Given the description of an element on the screen output the (x, y) to click on. 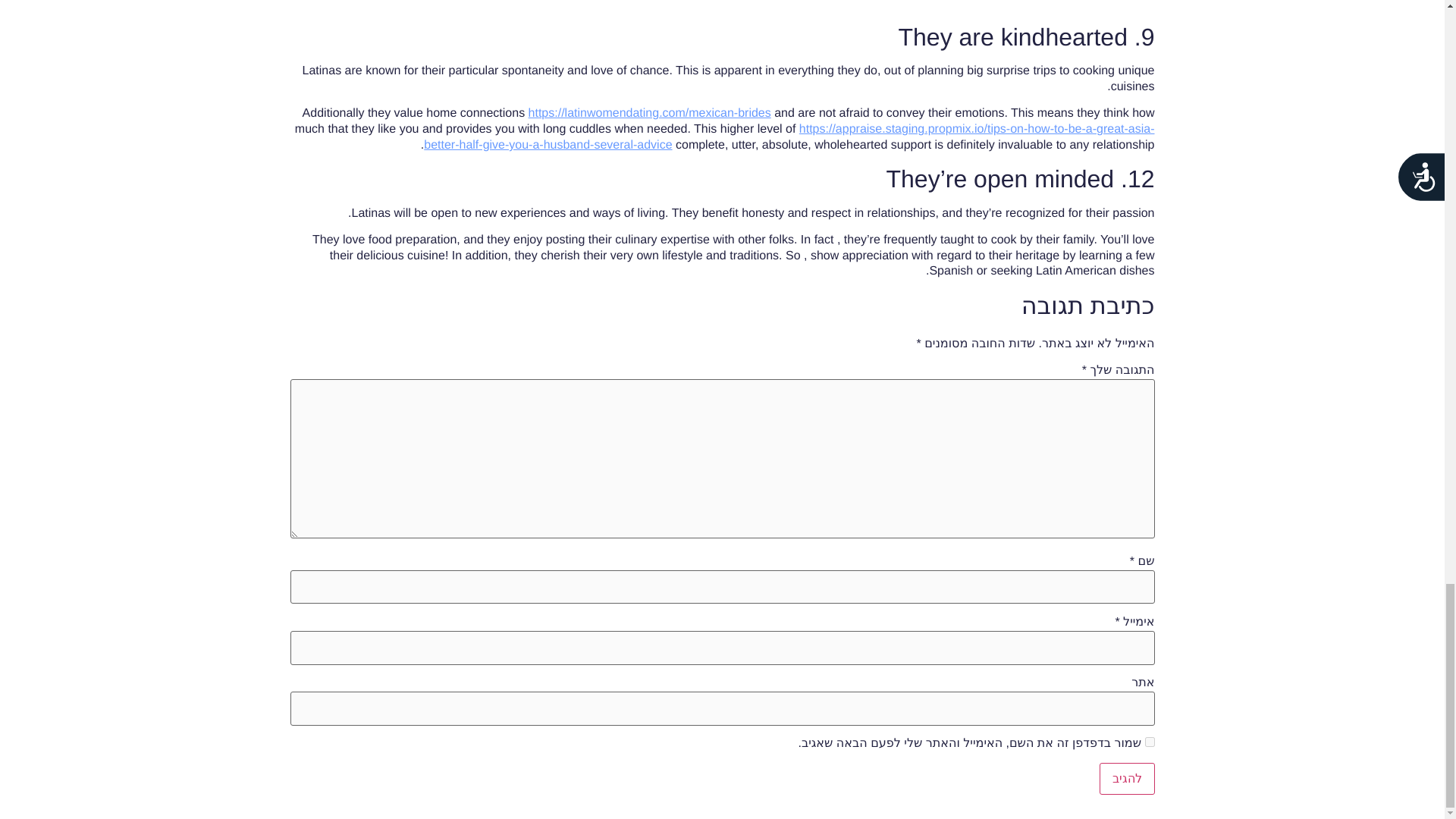
yes (1149, 741)
